Given the description of an element on the screen output the (x, y) to click on. 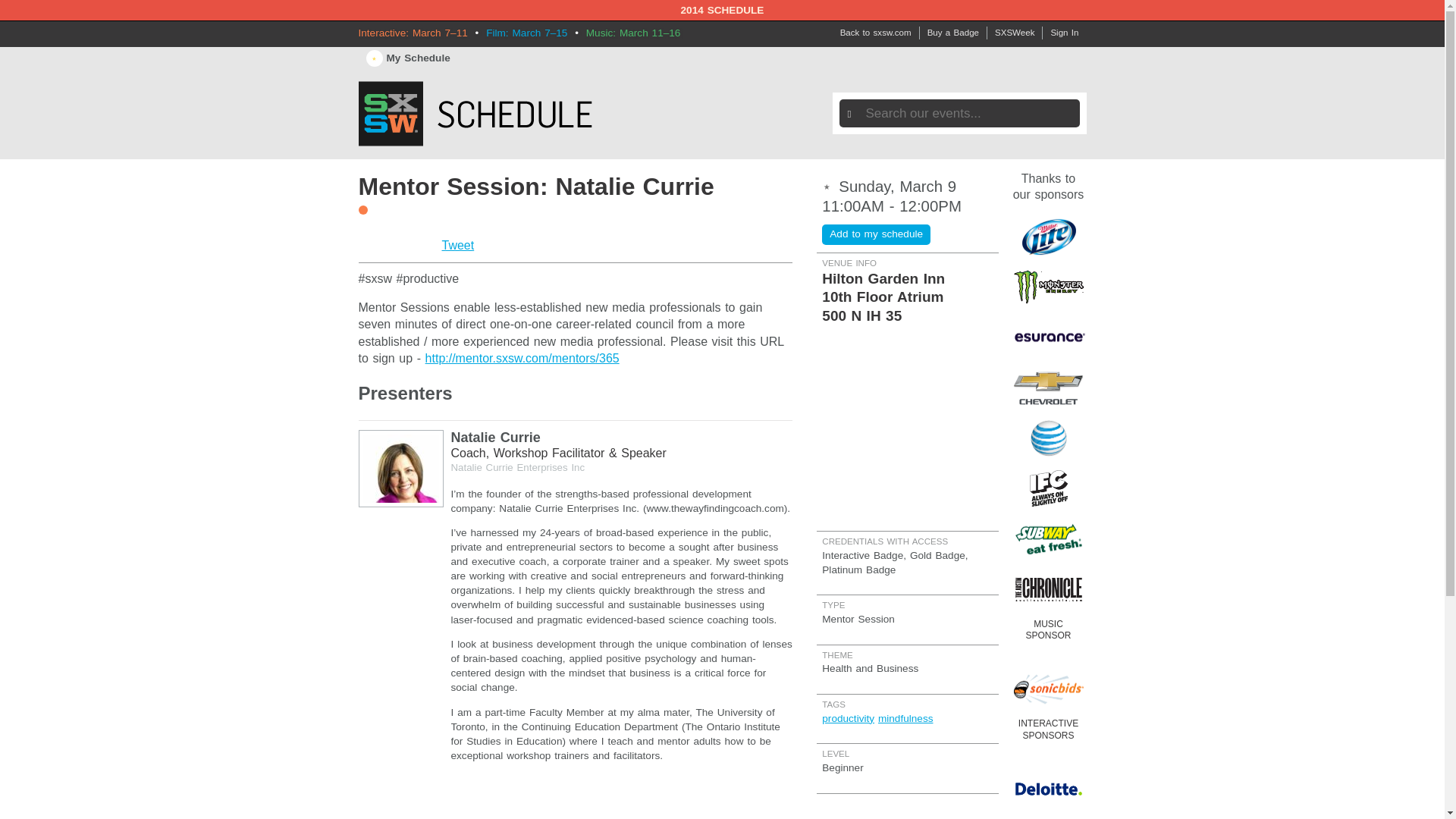
Sign In (1064, 32)
SXSWeek (1014, 32)
Interactive (362, 209)
Back to sxsw.com (875, 32)
mindfulness (905, 717)
Buy a Badge (953, 32)
Hilton Garden Inn (907, 285)
Tweet (457, 245)
You must log in to favorite an event. (830, 184)
You must log in to favorite an event. (876, 234)
productivity (848, 717)
Add to my schedule (876, 234)
